Given the description of an element on the screen output the (x, y) to click on. 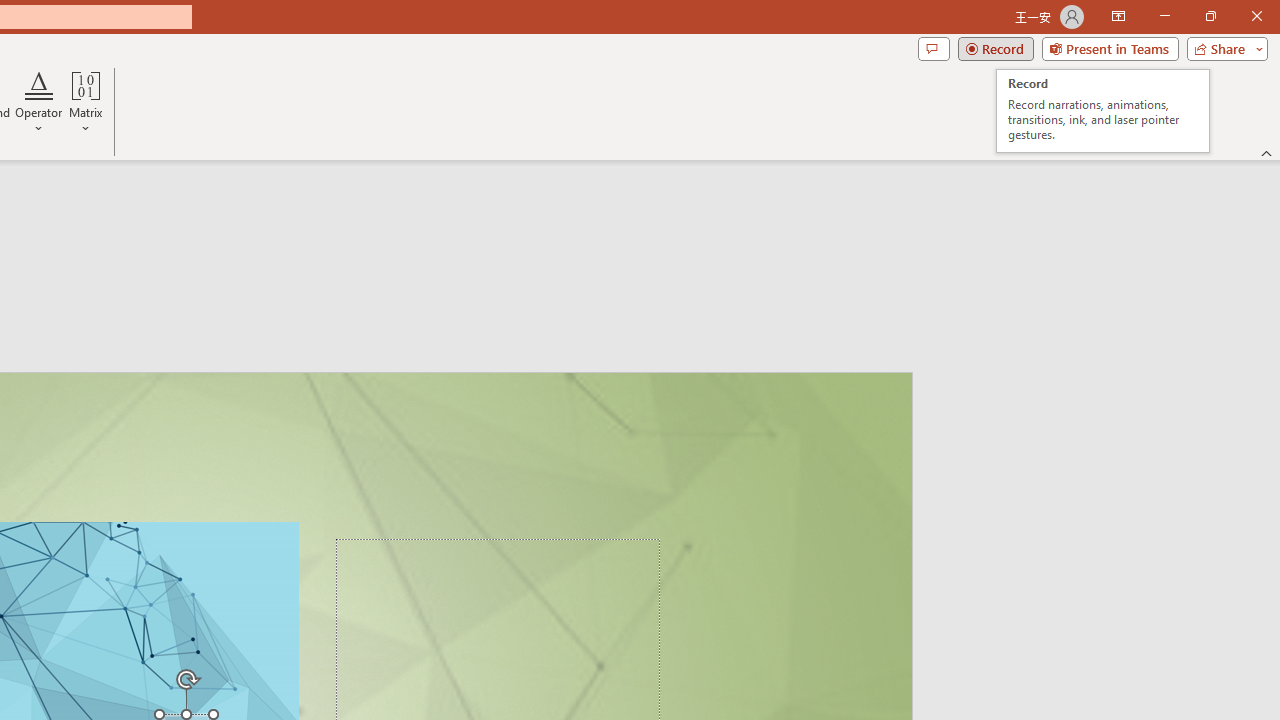
Operator (38, 102)
Matrix (86, 102)
